Given the description of an element on the screen output the (x, y) to click on. 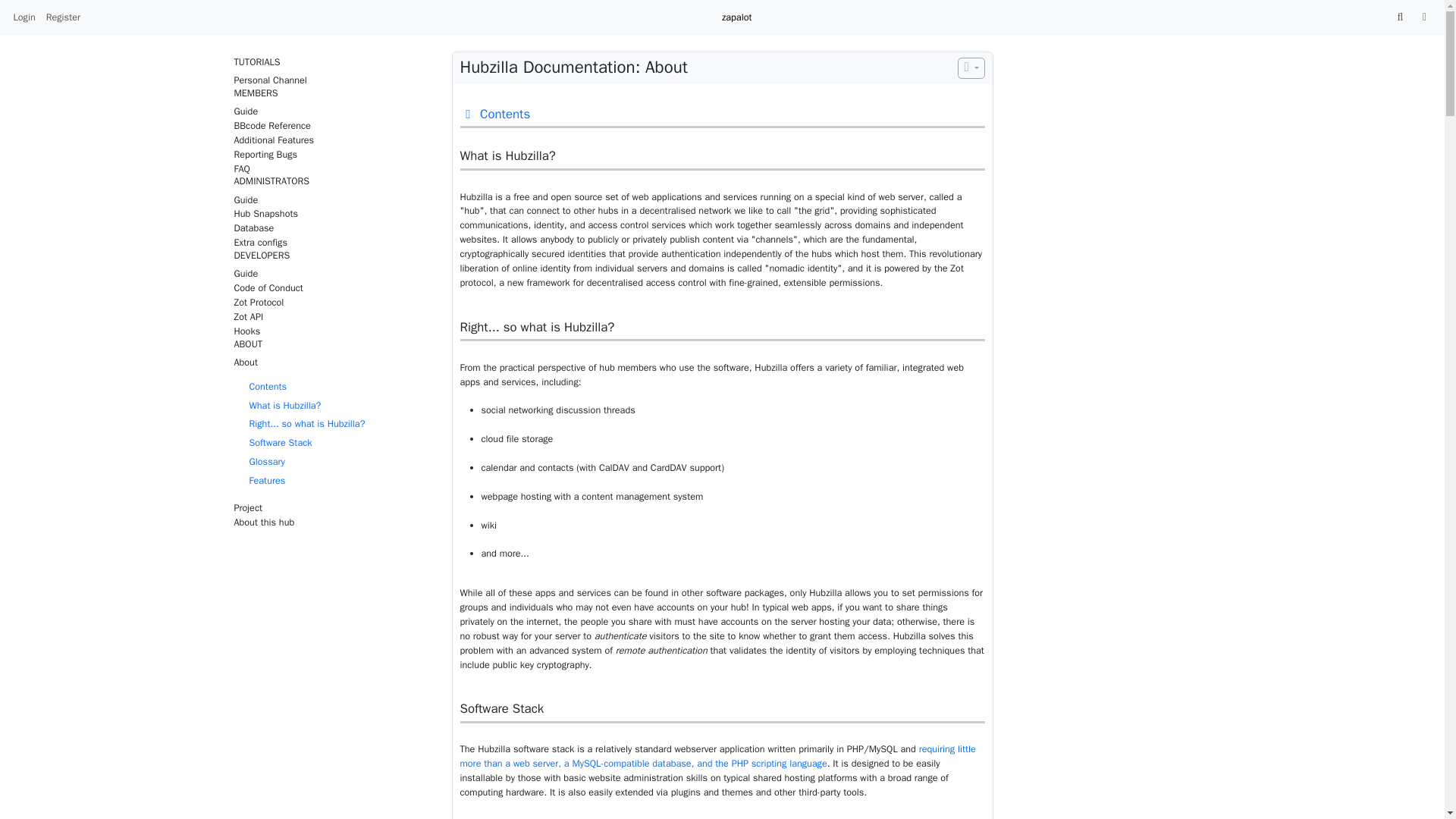
Contents (267, 386)
Glossary (265, 461)
Guide (332, 273)
Zot API (332, 317)
Database (332, 228)
About (332, 362)
What is Hubzilla? (284, 405)
Zot Protocol (332, 302)
Sign in (23, 17)
Guide (332, 200)
Project (332, 508)
Reporting Bugs (332, 155)
Hooks (332, 331)
Personal Channel (332, 80)
Software Stack (279, 442)
